Given the description of an element on the screen output the (x, y) to click on. 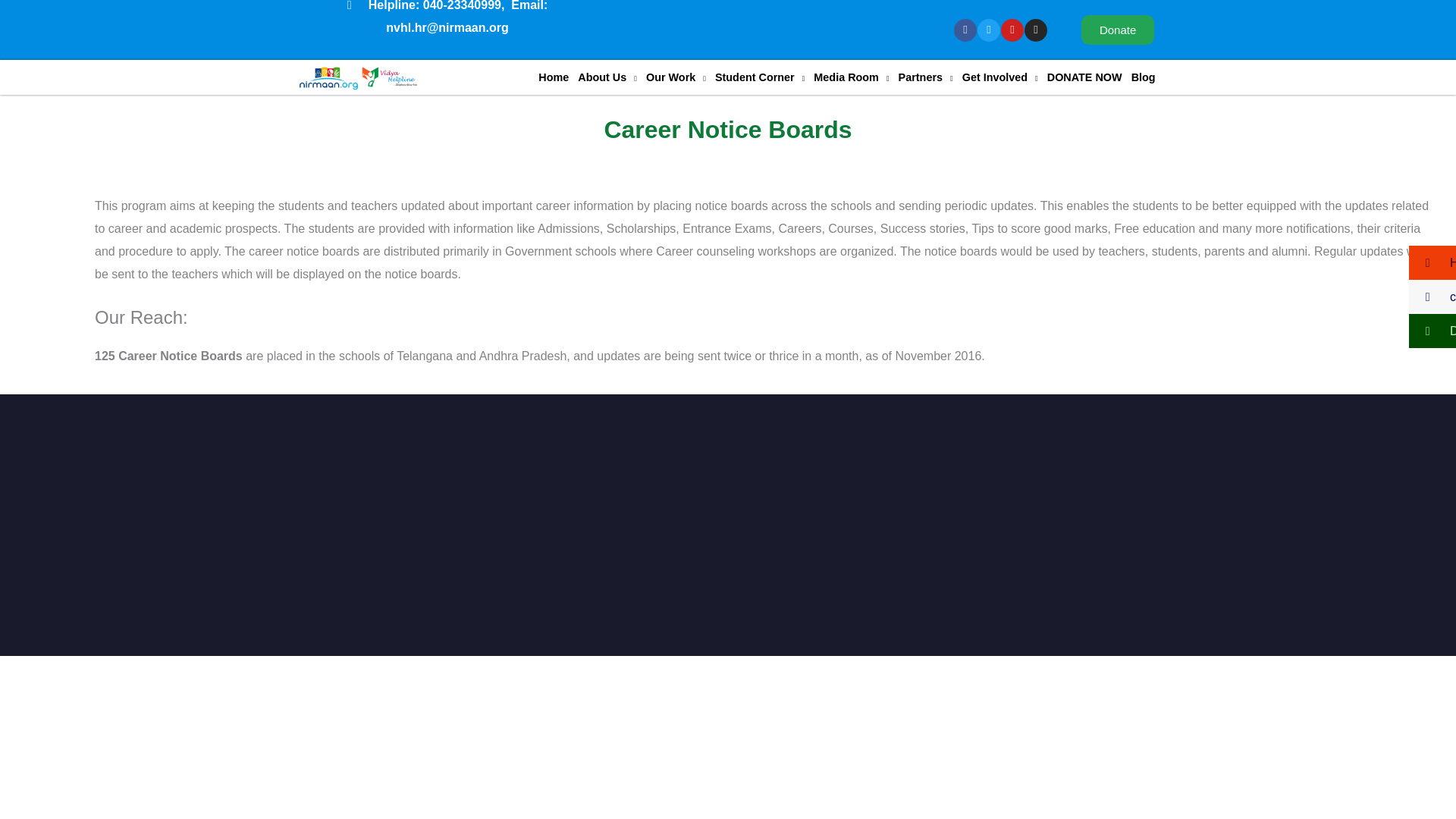
Media Room (851, 77)
Student Corner (759, 77)
Home (553, 77)
Donate (1117, 30)
Our Work (676, 77)
cropped-NVHL-Logo1-1-1.png (358, 78)
About Us (607, 77)
